Given the description of an element on the screen output the (x, y) to click on. 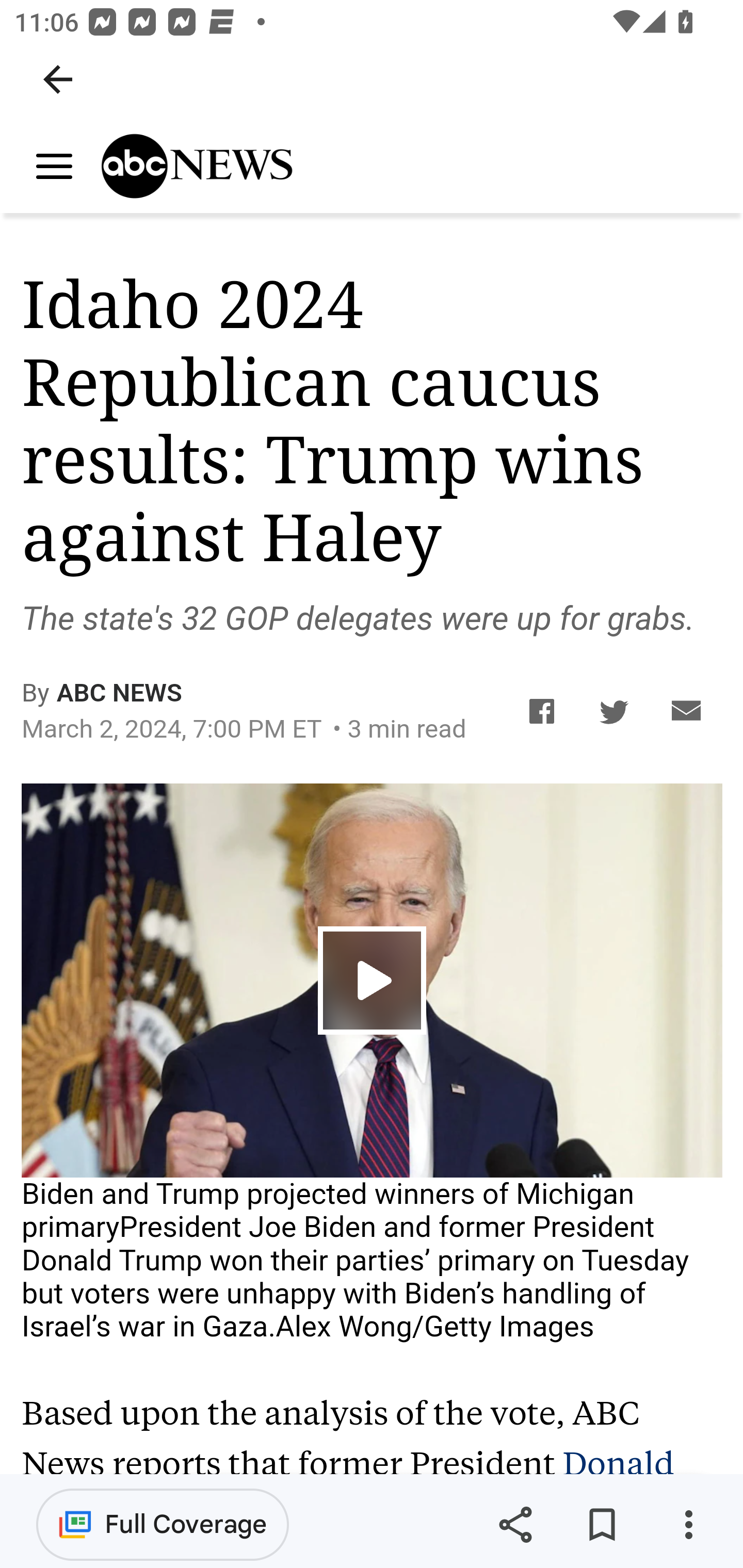
Navigate up (57, 79)
abcnews logo (184, 167)
Share by facebook (541, 710)
Share by twitter (614, 710)
Share by customemail (686, 710)
Play Video (372, 980)
Share (514, 1524)
Save for later (601, 1524)
More options (688, 1524)
Full Coverage (162, 1524)
